Given the description of an element on the screen output the (x, y) to click on. 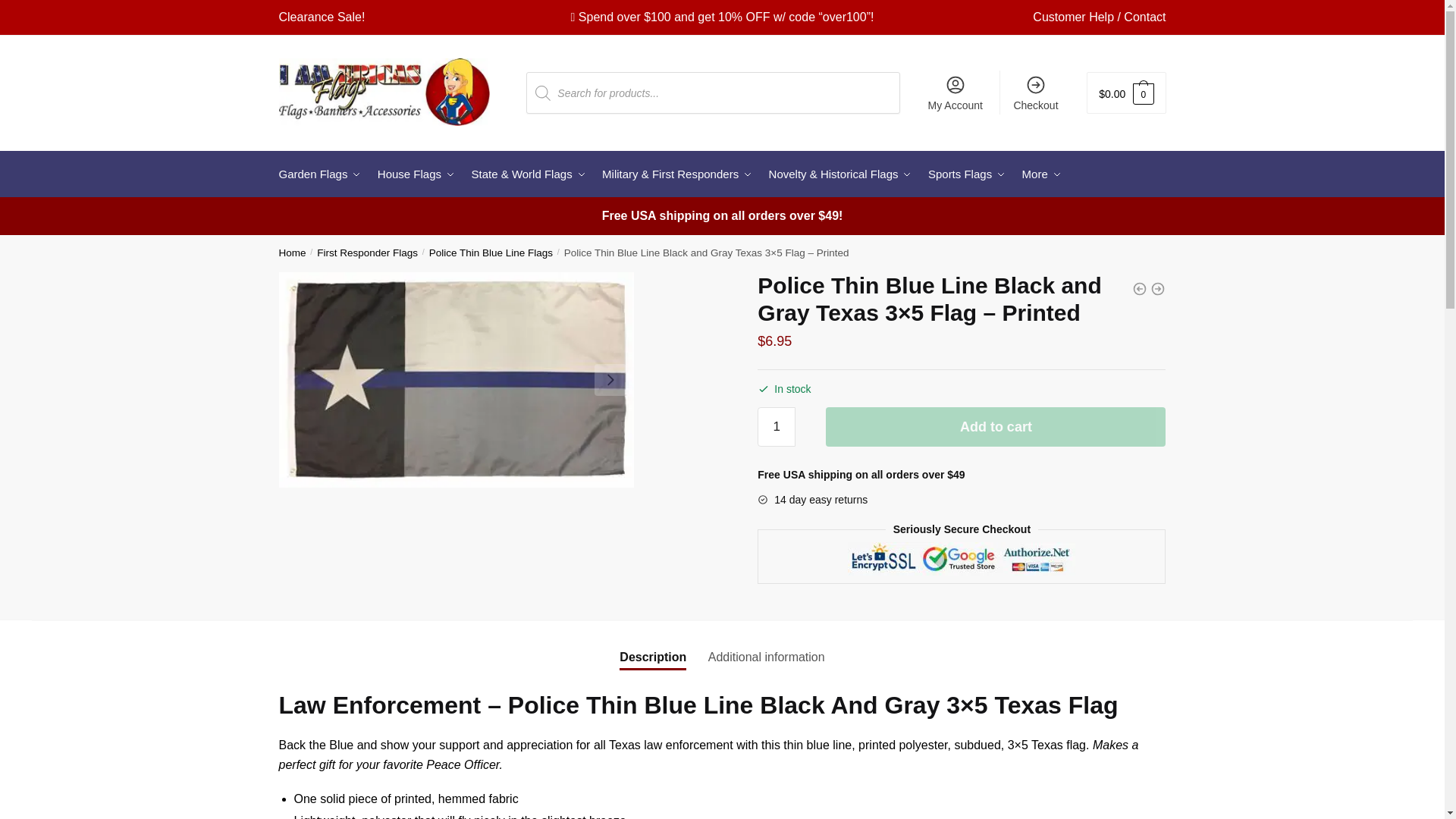
Garden Flags (323, 174)
1 (775, 426)
View your shopping cart (1126, 92)
Checkout (1035, 92)
My Account (954, 92)
click to zoom-in (456, 379)
Clearance Sale! (322, 16)
